Given the description of an element on the screen output the (x, y) to click on. 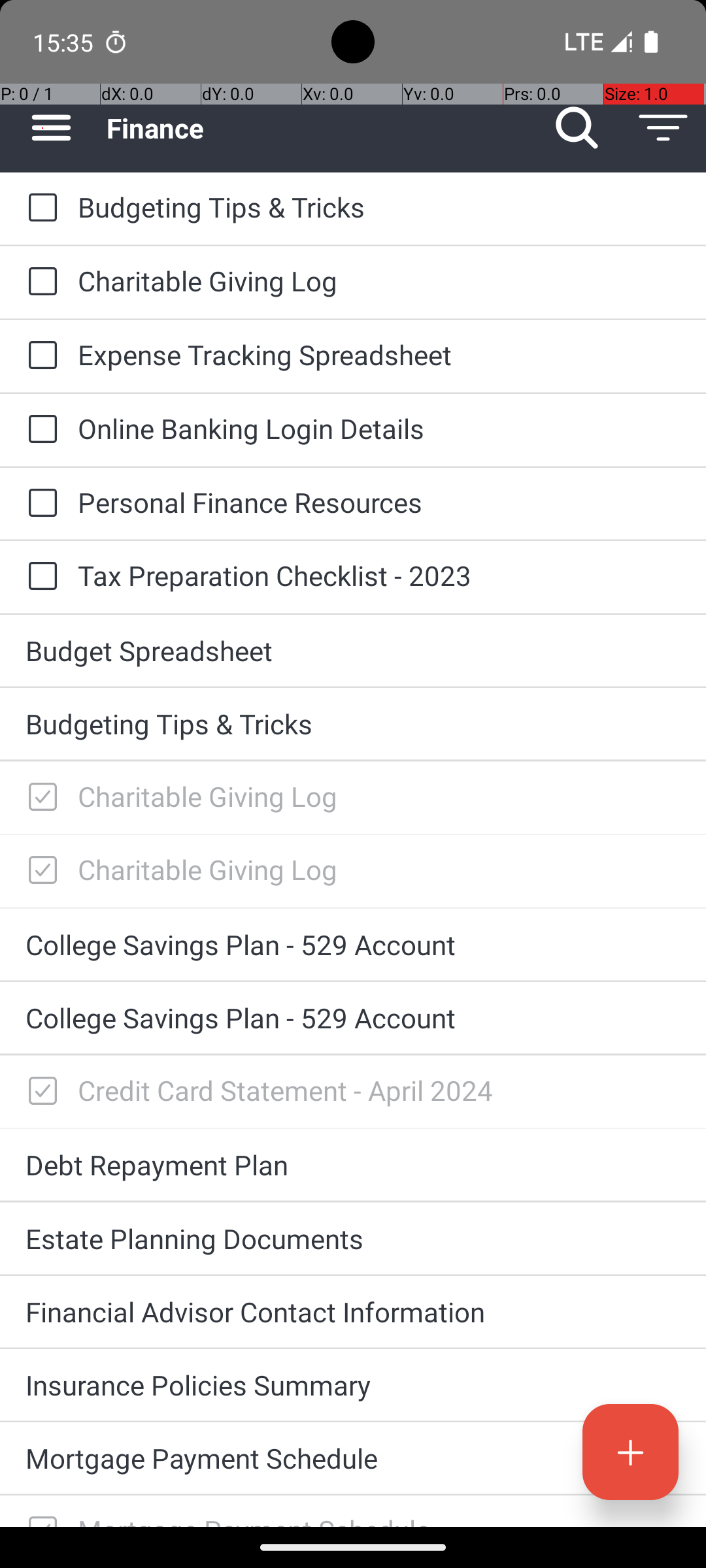
to-do: Budgeting Tips & Tricks Element type: android.widget.CheckBox (38, 208)
Budgeting Tips & Tricks Element type: android.widget.TextView (378, 206)
to-do: Charitable Giving Log Element type: android.widget.CheckBox (38, 282)
Charitable Giving Log Element type: android.widget.TextView (378, 280)
to-do: Expense Tracking Spreadsheet Element type: android.widget.CheckBox (38, 356)
Expense Tracking Spreadsheet Element type: android.widget.TextView (378, 354)
to-do: Online Banking Login Details Element type: android.widget.CheckBox (38, 429)
Online Banking Login Details Element type: android.widget.TextView (378, 427)
to-do: Personal Finance Resources Element type: android.widget.CheckBox (38, 503)
Personal Finance Resources Element type: android.widget.TextView (378, 501)
to-do: Tax Preparation Checklist - 2023 Element type: android.widget.CheckBox (38, 576)
Tax Preparation Checklist - 2023 Element type: android.widget.TextView (378, 574)
Budget Spreadsheet Element type: android.widget.TextView (352, 650)
College Savings Plan - 529 Account Element type: android.widget.TextView (352, 944)
to-do: Credit Card Statement - April 2024 Element type: android.widget.CheckBox (38, 1091)
Credit Card Statement - April 2024 Element type: android.widget.TextView (378, 1089)
Debt Repayment Plan Element type: android.widget.TextView (352, 1164)
Estate Planning Documents Element type: android.widget.TextView (352, 1238)
Insurance Policies Summary Element type: android.widget.TextView (352, 1384)
Mortgage Payment Schedule Element type: android.widget.TextView (352, 1457)
to-do: Mortgage Payment Schedule Element type: android.widget.CheckBox (38, 1510)
